Given the description of an element on the screen output the (x, y) to click on. 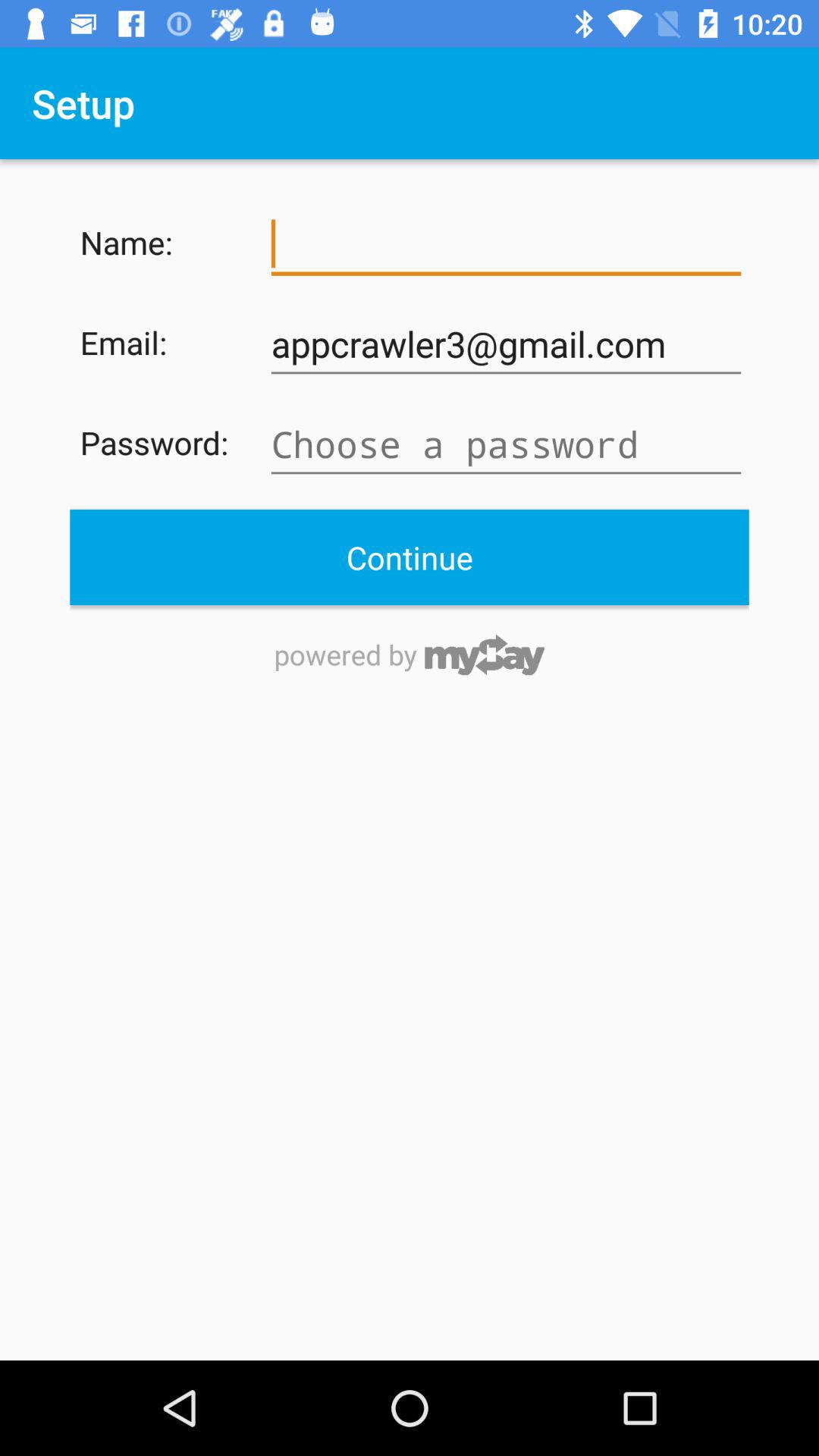
enter name option (506, 244)
